Given the description of an element on the screen output the (x, y) to click on. 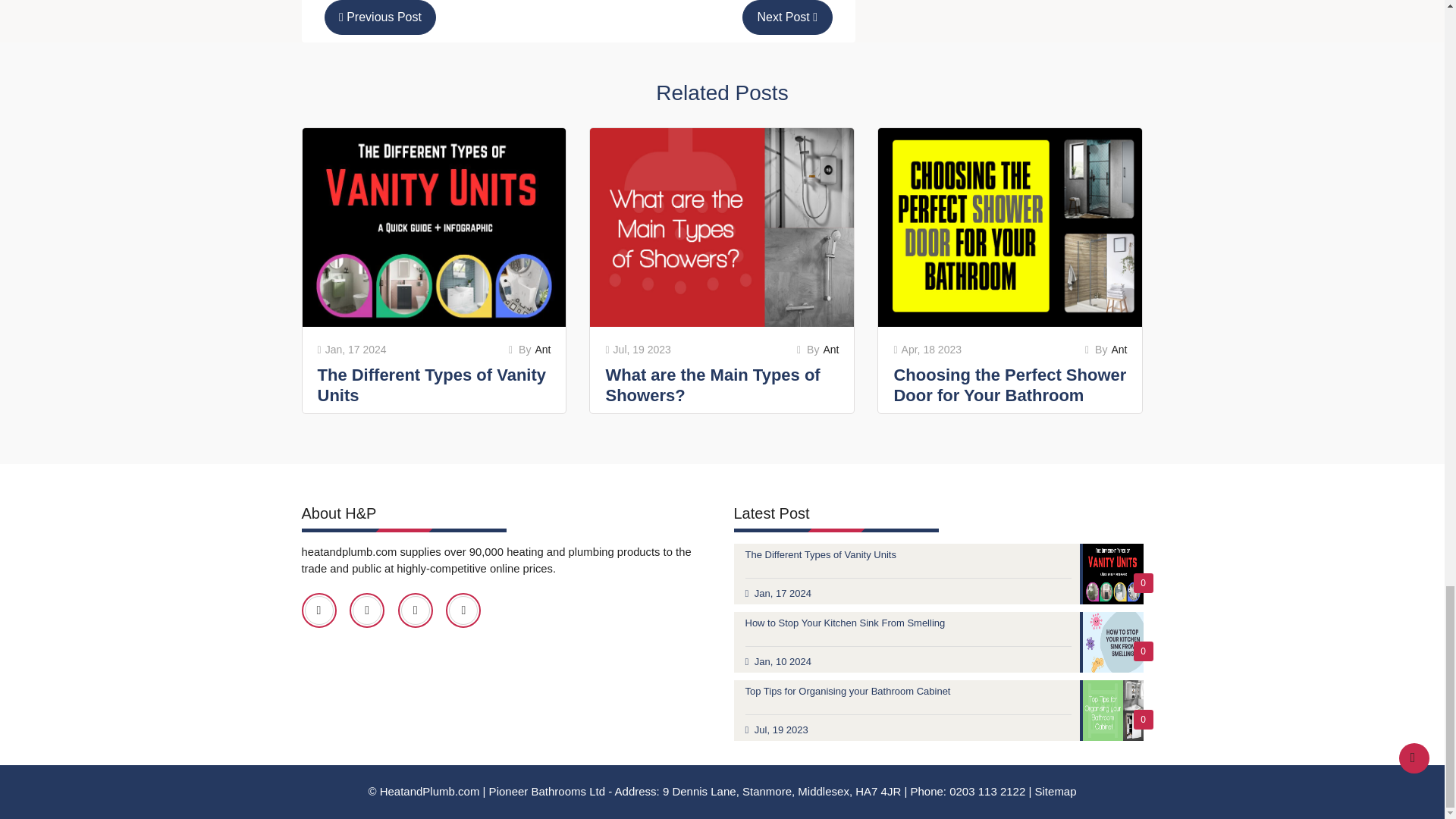
Previous Post (380, 17)
Ant (542, 349)
Next Post (786, 17)
